Given the description of an element on the screen output the (x, y) to click on. 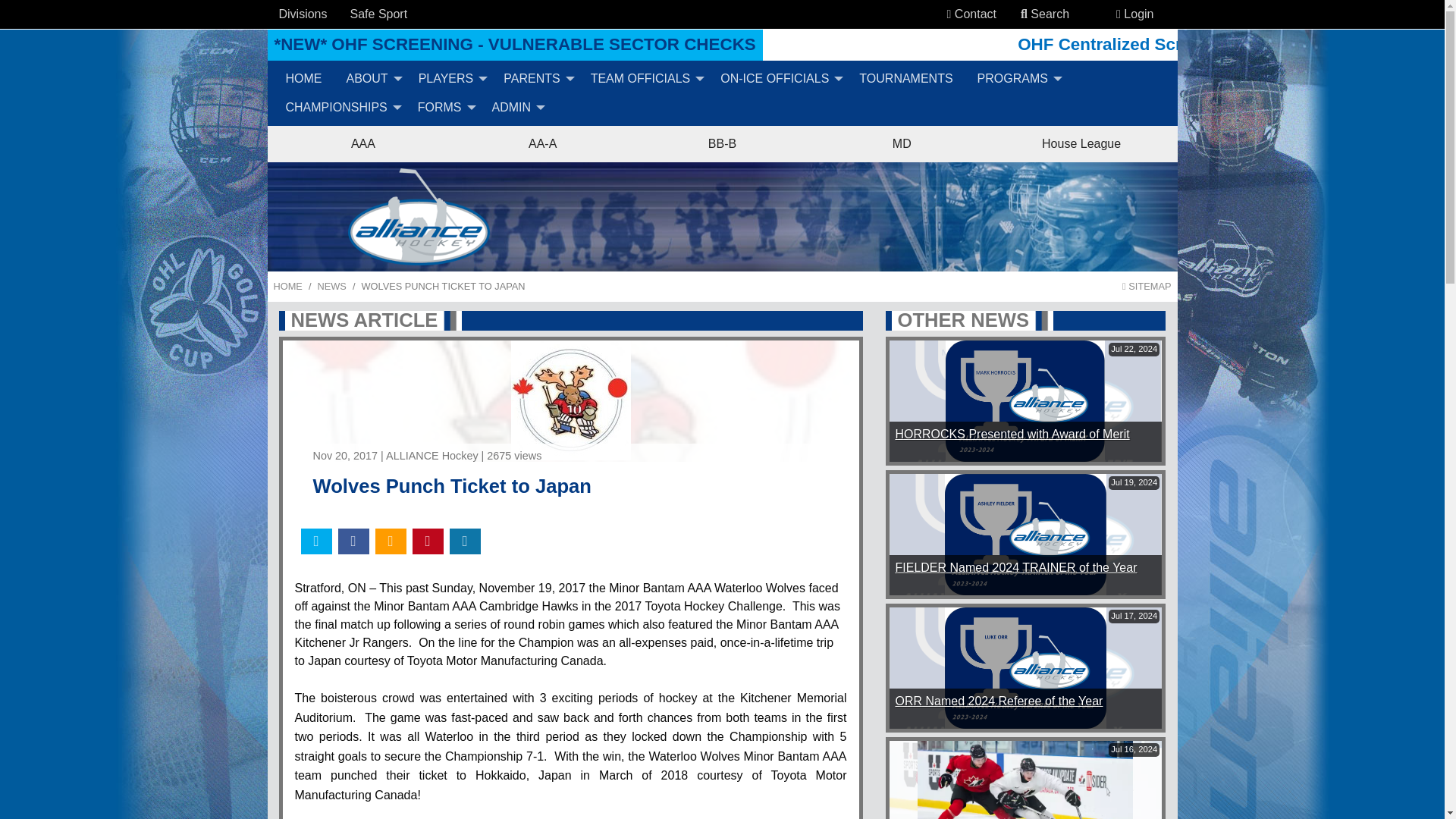
Search (1023, 14)
 Search (1045, 14)
Safe Sport (378, 13)
 Contact (971, 14)
read more of this item (1012, 433)
PARENTS (535, 77)
List of News (331, 285)
Go to the sitemap page for this website (1146, 285)
HOME (303, 77)
PLAYERS (449, 77)
ABOUT (369, 77)
Main Home Page (287, 285)
Divisions (303, 13)
 Login (1134, 14)
read more of this item (998, 700)
